Given the description of an element on the screen output the (x, y) to click on. 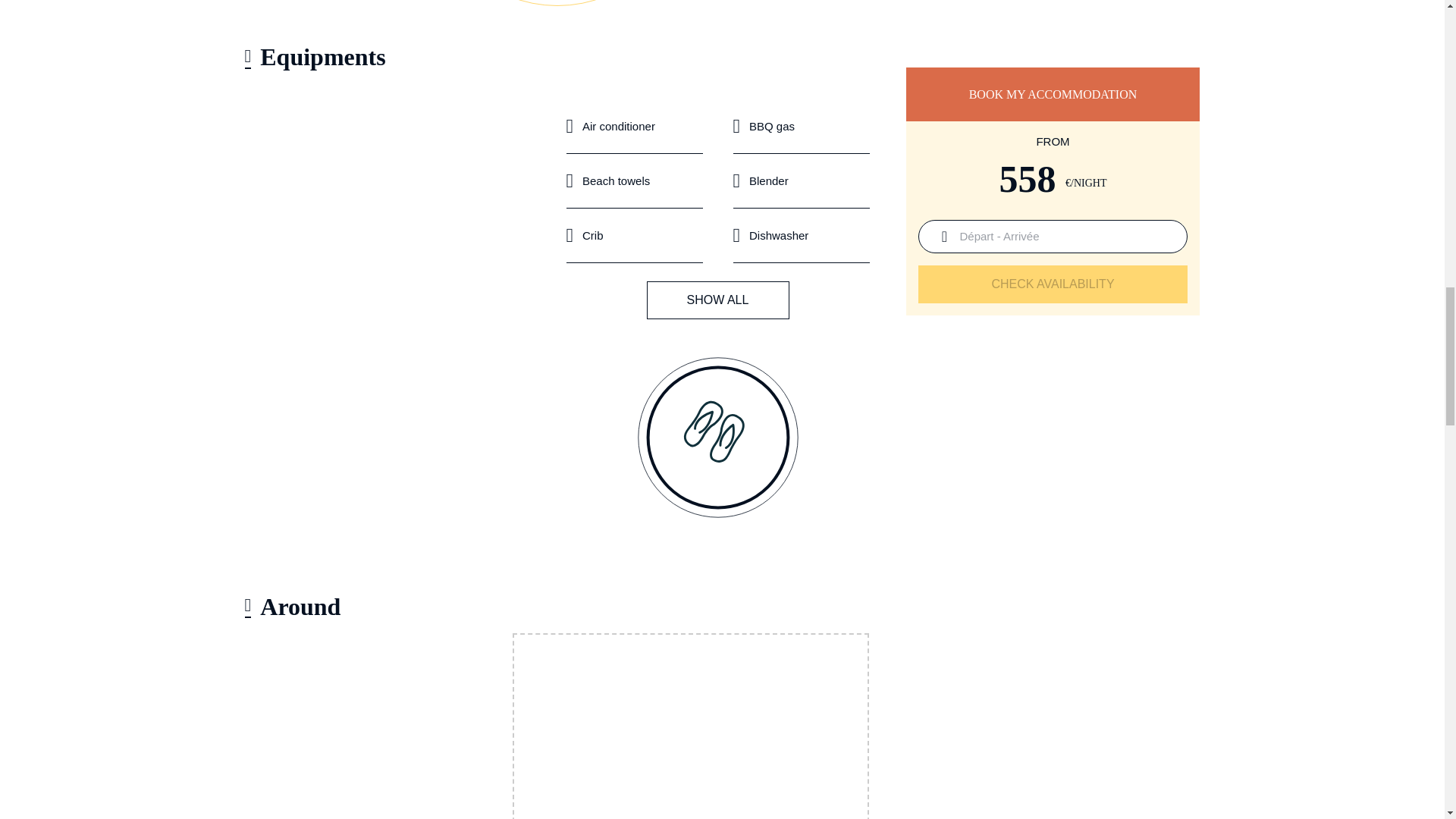
SHOW ALL (717, 300)
